Given the description of an element on the screen output the (x, y) to click on. 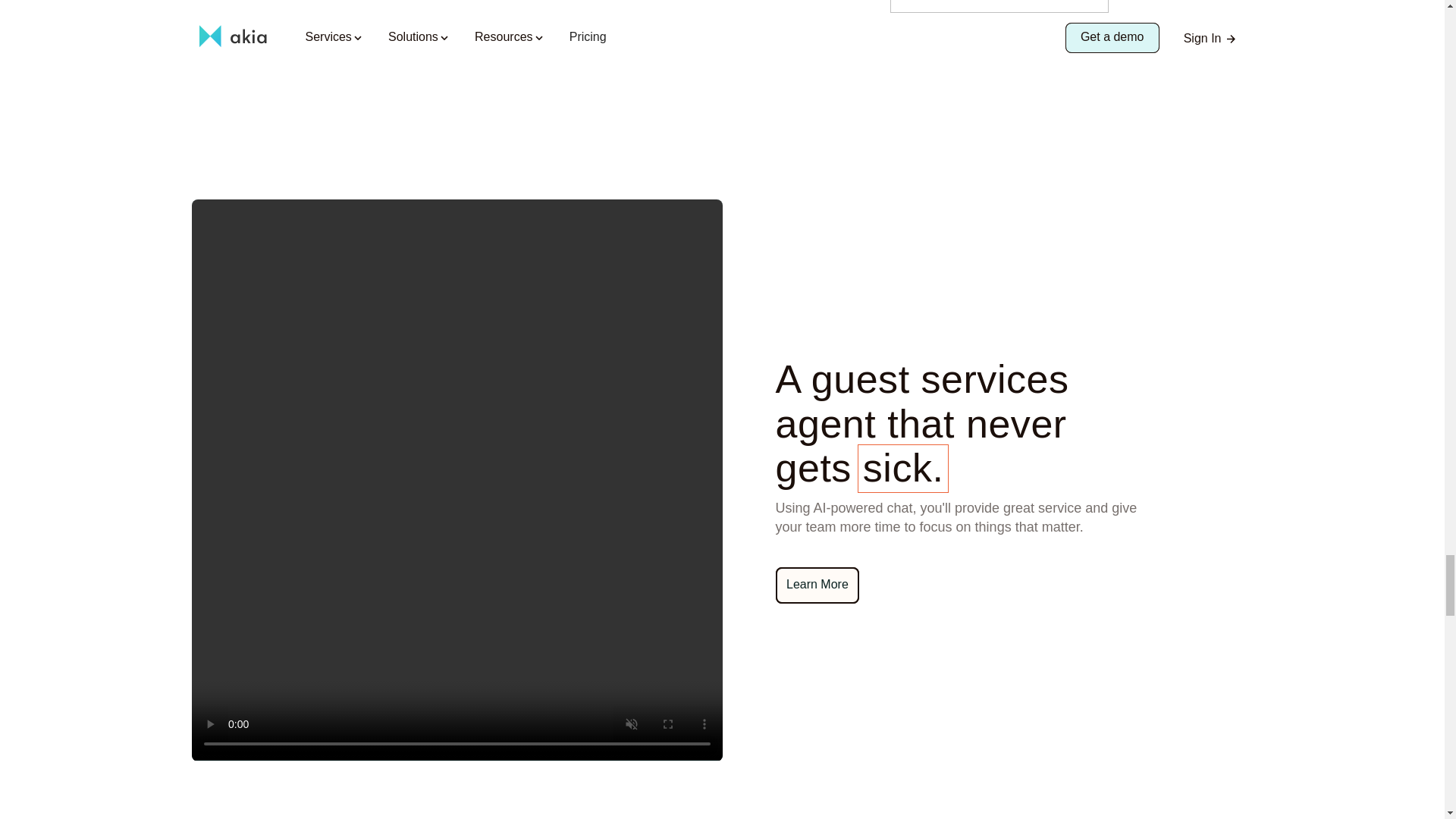
Learn More (816, 584)
